Given the description of an element on the screen output the (x, y) to click on. 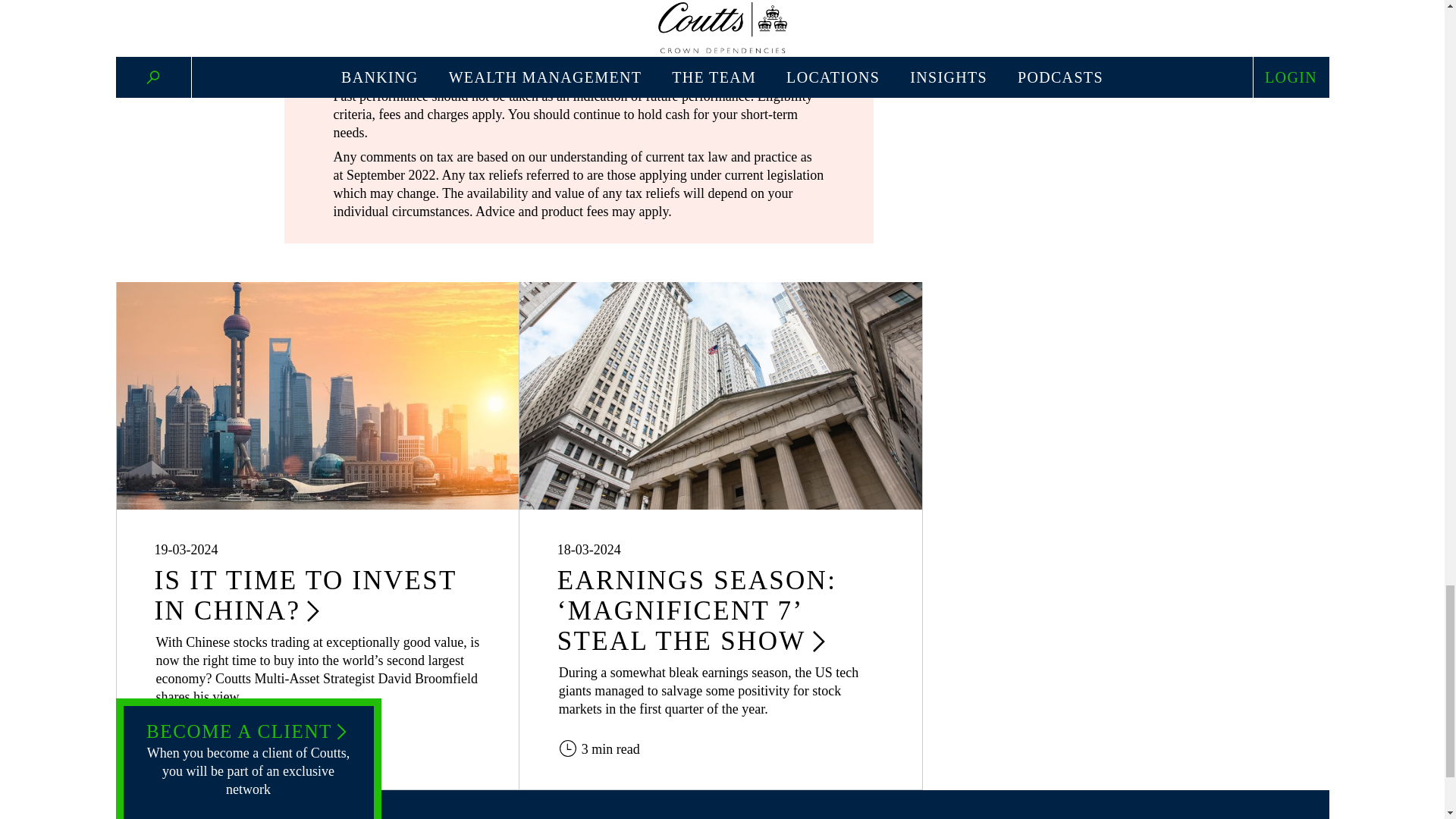
Is it time to invest in China? (317, 395)
LISTEN TO OUR PODCAST ON THE MINI-BUDGET (579, 44)
IS IT TIME TO INVEST IN CHINA? (305, 595)
